Given the description of an element on the screen output the (x, y) to click on. 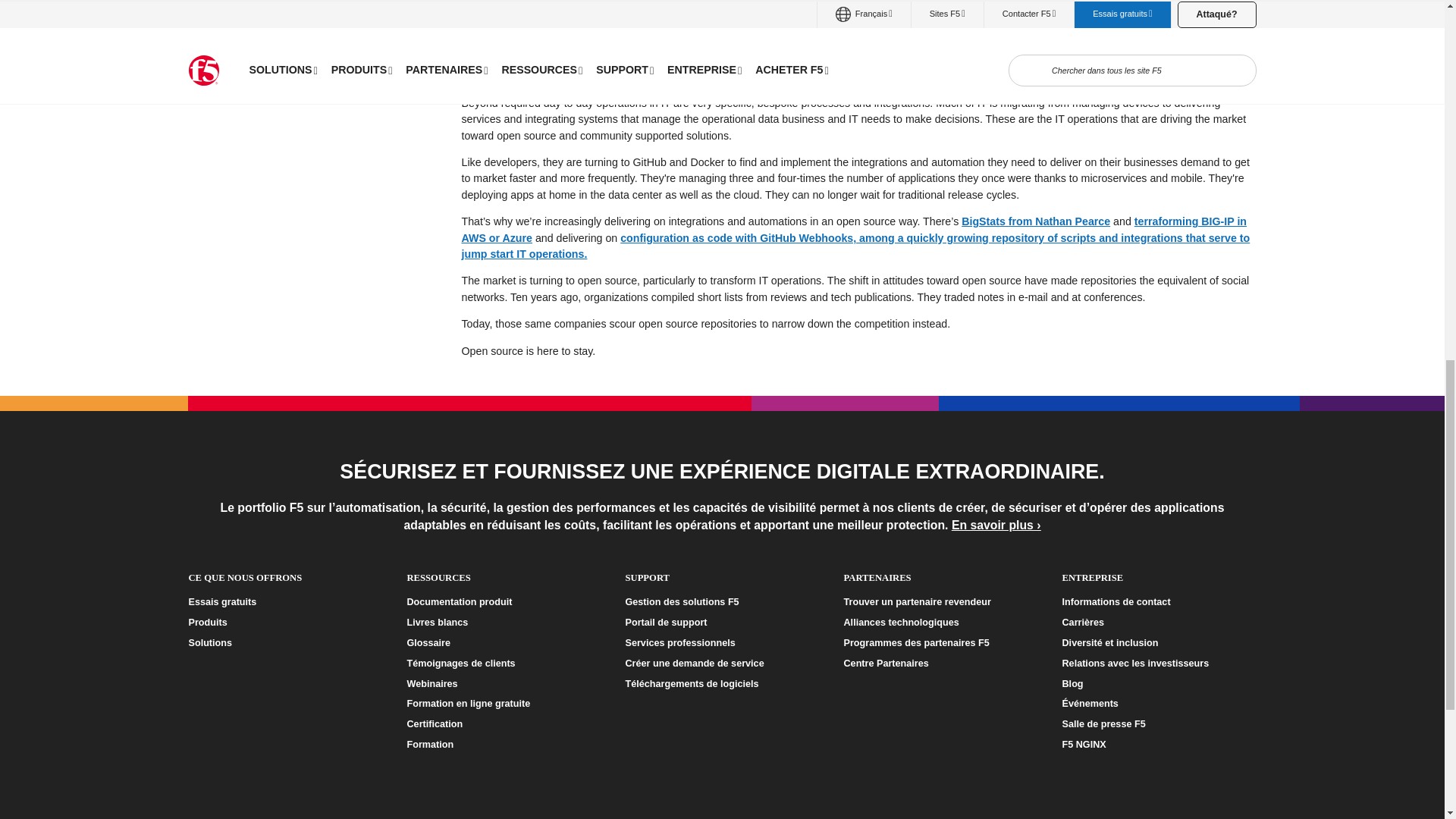
most popular open source projects in 2018 (977, 43)
Produits (284, 622)
Solutions (284, 643)
Livres blancs (502, 622)
Glossaire (502, 643)
Webinaires (502, 683)
Essais gratuits (284, 602)
terraforming BIG-IP in AWS or Azure (853, 229)
Documentation produit (502, 602)
BigStats from Nathan Pearce (1034, 221)
